Given the description of an element on the screen output the (x, y) to click on. 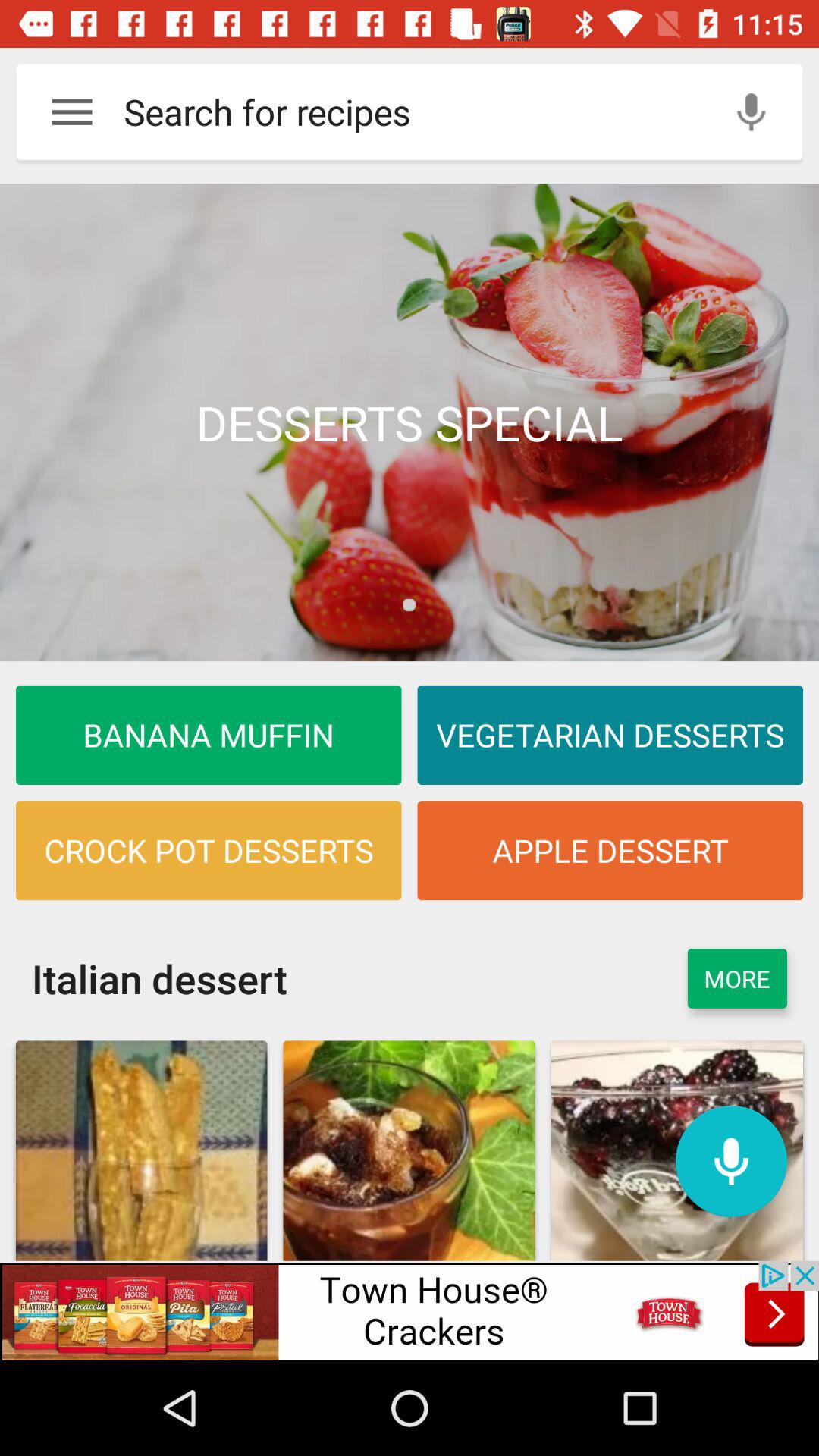
access advertising (409, 1310)
